Given the description of an element on the screen output the (x, y) to click on. 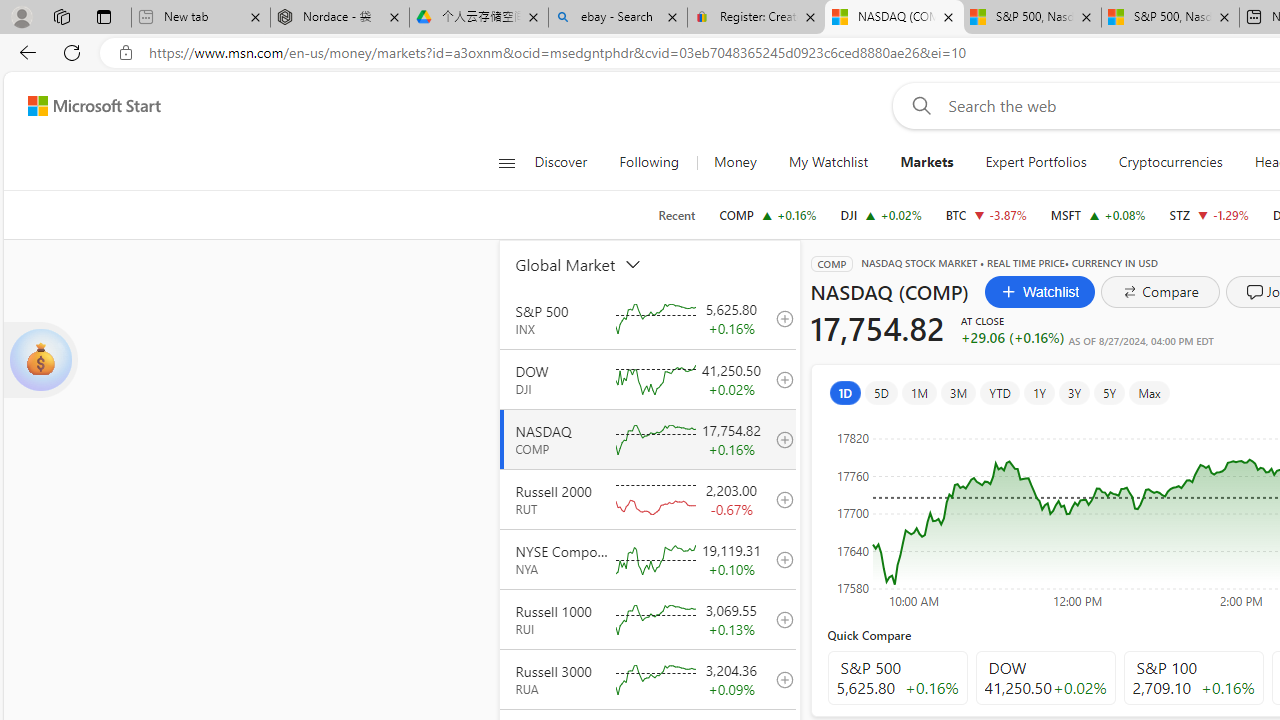
add to your watchlist (779, 678)
Global Market (601, 264)
Web search (917, 105)
STZ CONSTELLATION BRANDS, INC. decrease 239.98 -3.13 -1.29% (1208, 214)
5Y (1110, 392)
Recent (676, 215)
YTD (1000, 392)
Money (734, 162)
1Y (1038, 392)
show card (40, 359)
3M (958, 392)
COMP NASDAQ increase 17,754.82 +29.06 +0.16% (767, 214)
